Given the description of an element on the screen output the (x, y) to click on. 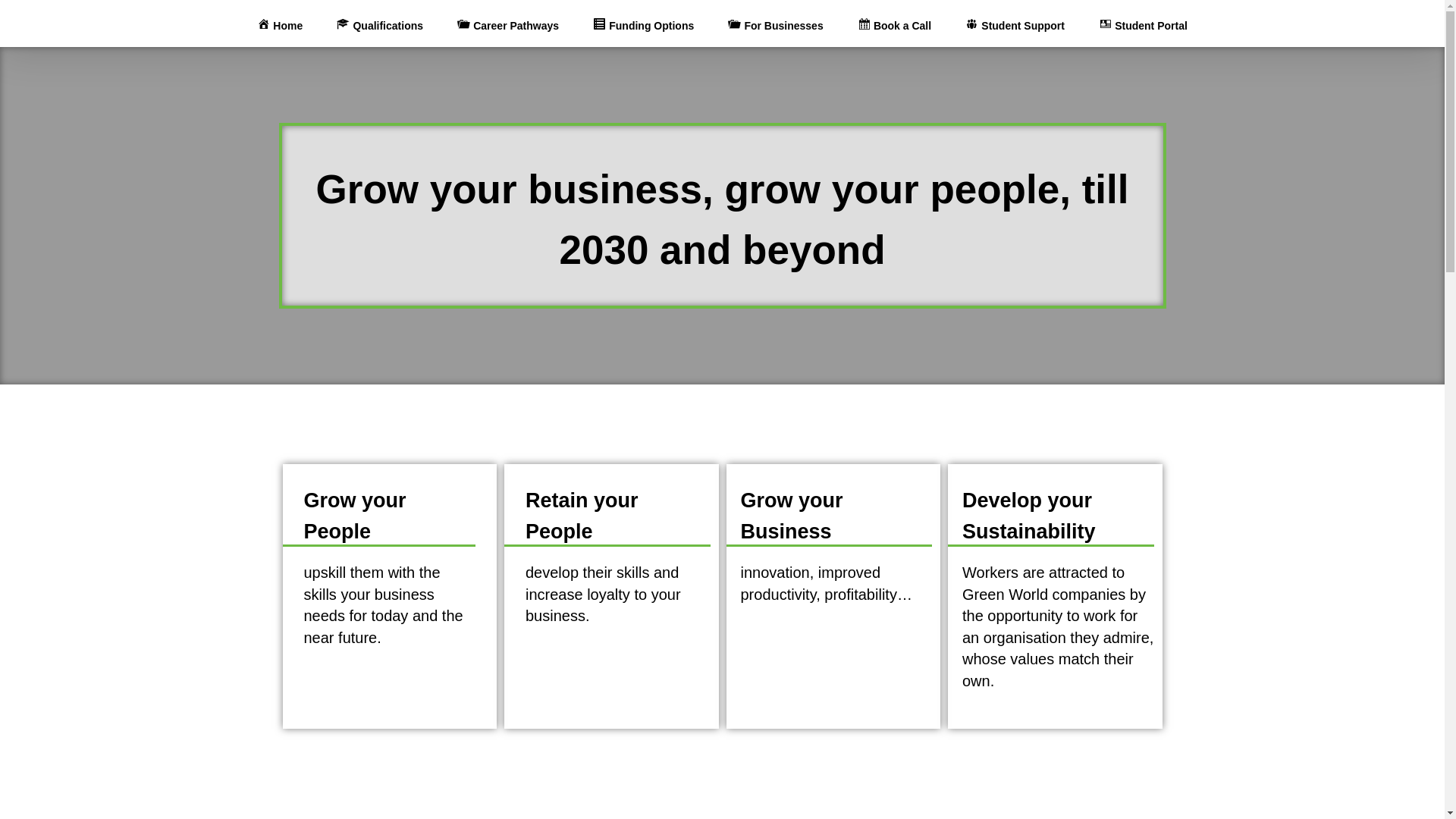
Funding Options (643, 22)
Student Support (1014, 22)
Qualifications (379, 22)
For Businesses (775, 22)
Career Pathways (508, 22)
Home (279, 22)
Book a Call (894, 22)
